Given the description of an element on the screen output the (x, y) to click on. 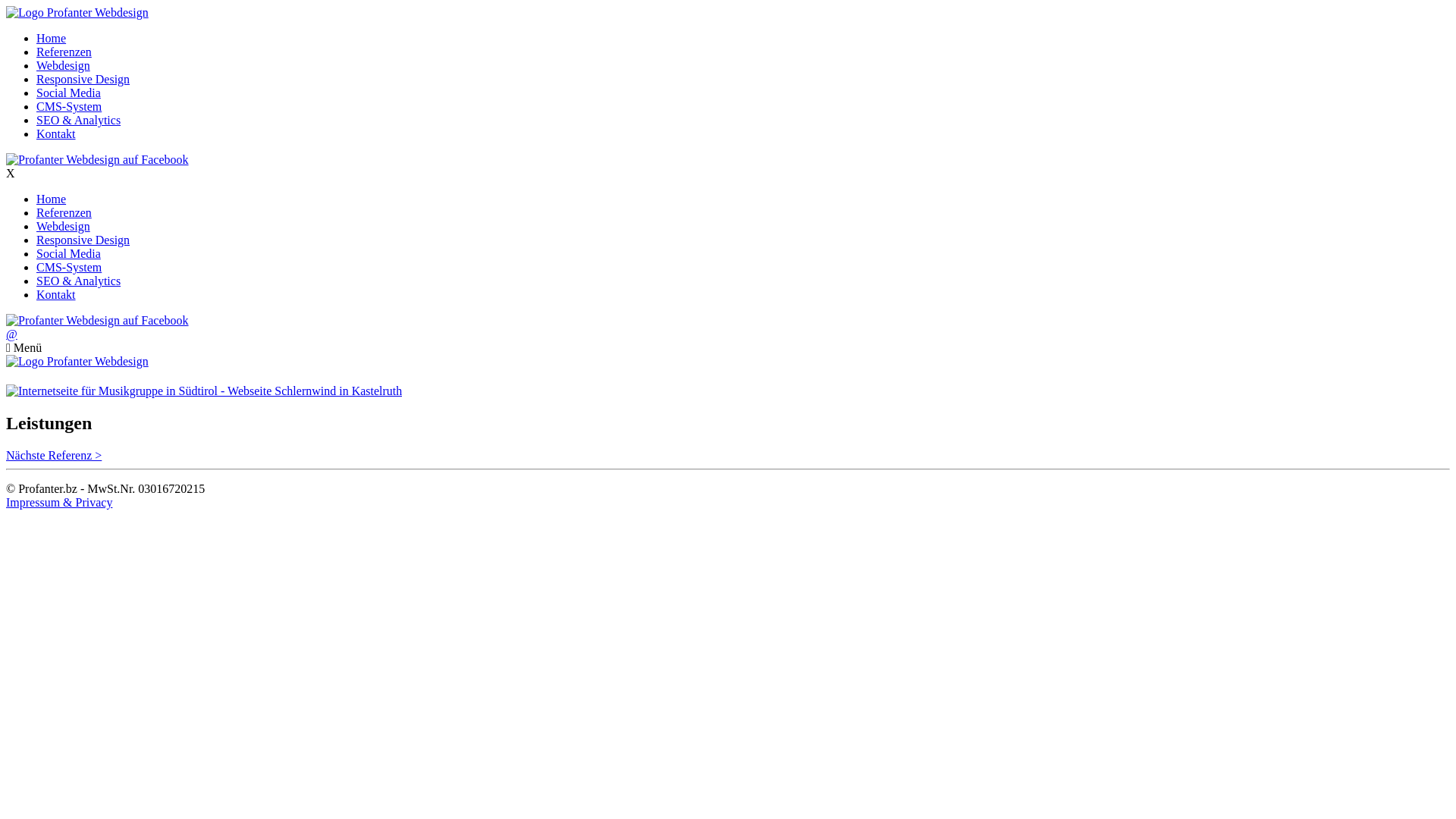
SEO & Analytics Element type: text (78, 119)
Referenzen Element type: text (63, 212)
Social Media Element type: text (68, 92)
Responsive Design Element type: text (82, 78)
Responsive Design Element type: text (82, 239)
CMS-System Element type: text (68, 266)
SEO & Analytics Element type: text (78, 280)
Home Element type: text (50, 37)
Home Element type: text (50, 198)
Webdesign Element type: text (63, 225)
Referenzen Element type: text (63, 51)
Social Media Element type: text (68, 253)
@ Element type: text (11, 333)
Webdesign Element type: text (63, 65)
Kontakt Element type: text (55, 294)
Kontakt Element type: text (55, 133)
CMS-System Element type: text (68, 106)
Impressum & Privacy Element type: text (59, 501)
